Given the description of an element on the screen output the (x, y) to click on. 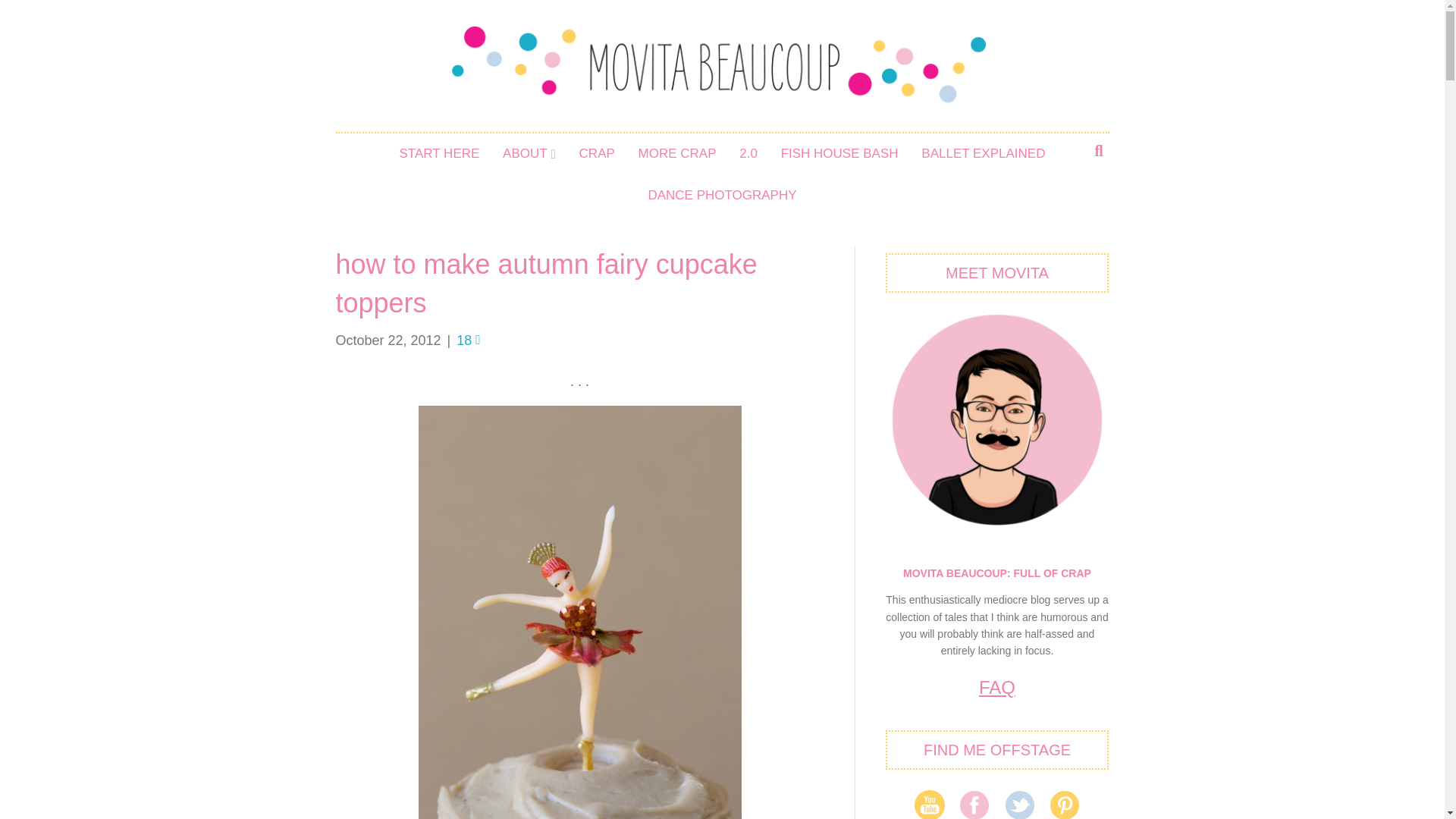
MORE CRAP (677, 153)
2.0 (748, 153)
CRAP (596, 153)
BALLET EXPLAINED (982, 153)
START HERE (439, 153)
ABOUT (529, 153)
FISH HOUSE BASH (839, 153)
DANCE PHOTOGRAPHY (721, 195)
18 (468, 340)
